Given the description of an element on the screen output the (x, y) to click on. 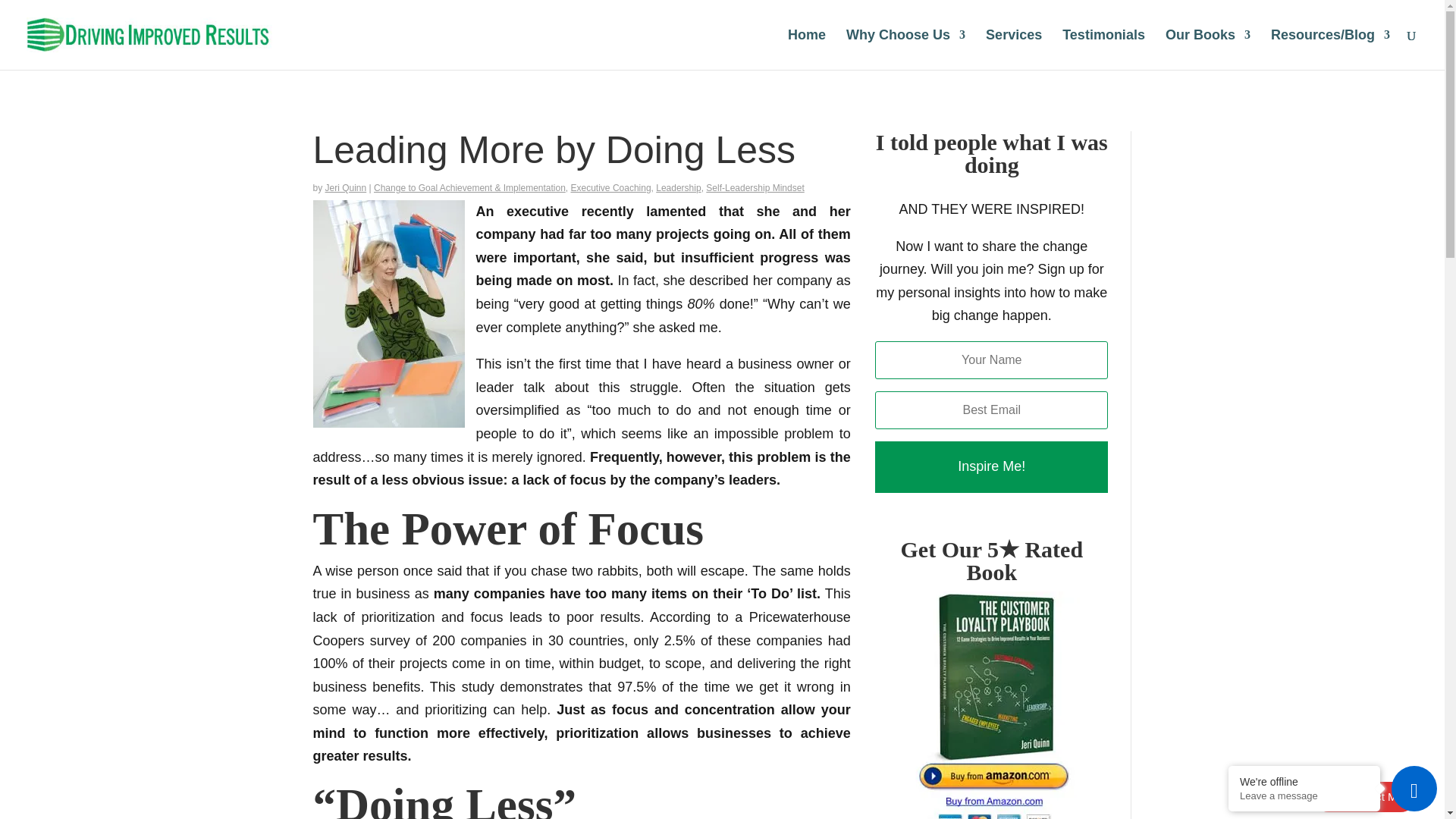
Our Books (1208, 49)
Services (1013, 49)
Inspire Me! (991, 467)
Leave a message (1304, 795)
We're offline (1304, 781)
Posts by Jeri Quinn (345, 187)
Jeri Quinn (345, 187)
Leadership (678, 187)
Why Choose Us (905, 49)
Self-Leadership Mindset (754, 187)
Testimonials (1103, 49)
Home (806, 49)
Executive Coaching (610, 187)
